Given the description of an element on the screen output the (x, y) to click on. 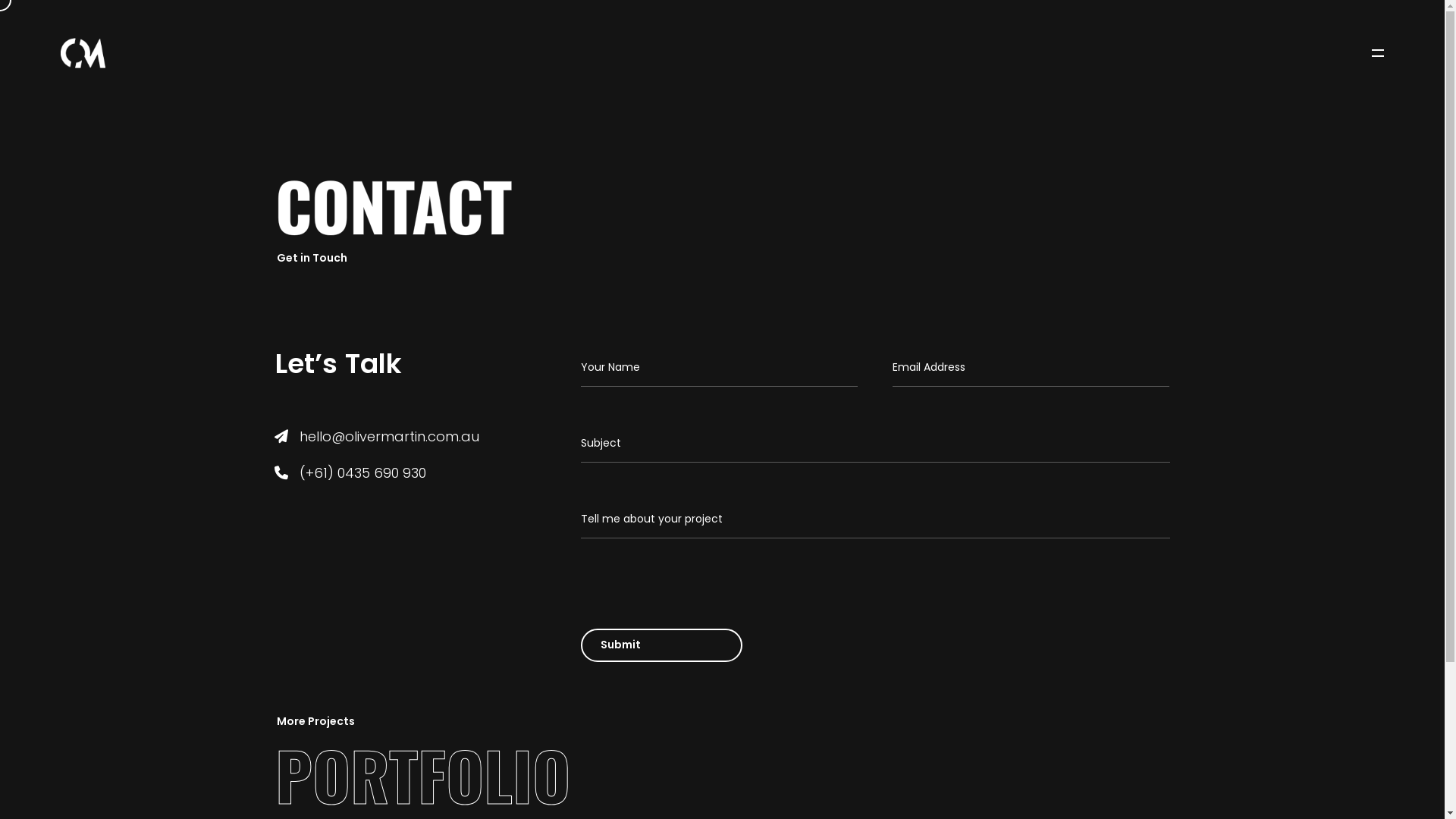
hello@olivermartin.com.au Element type: text (388, 496)
(+61) 0435 690 930 Element type: text (361, 523)
Submit Element type: text (620, 687)
